Given the description of an element on the screen output the (x, y) to click on. 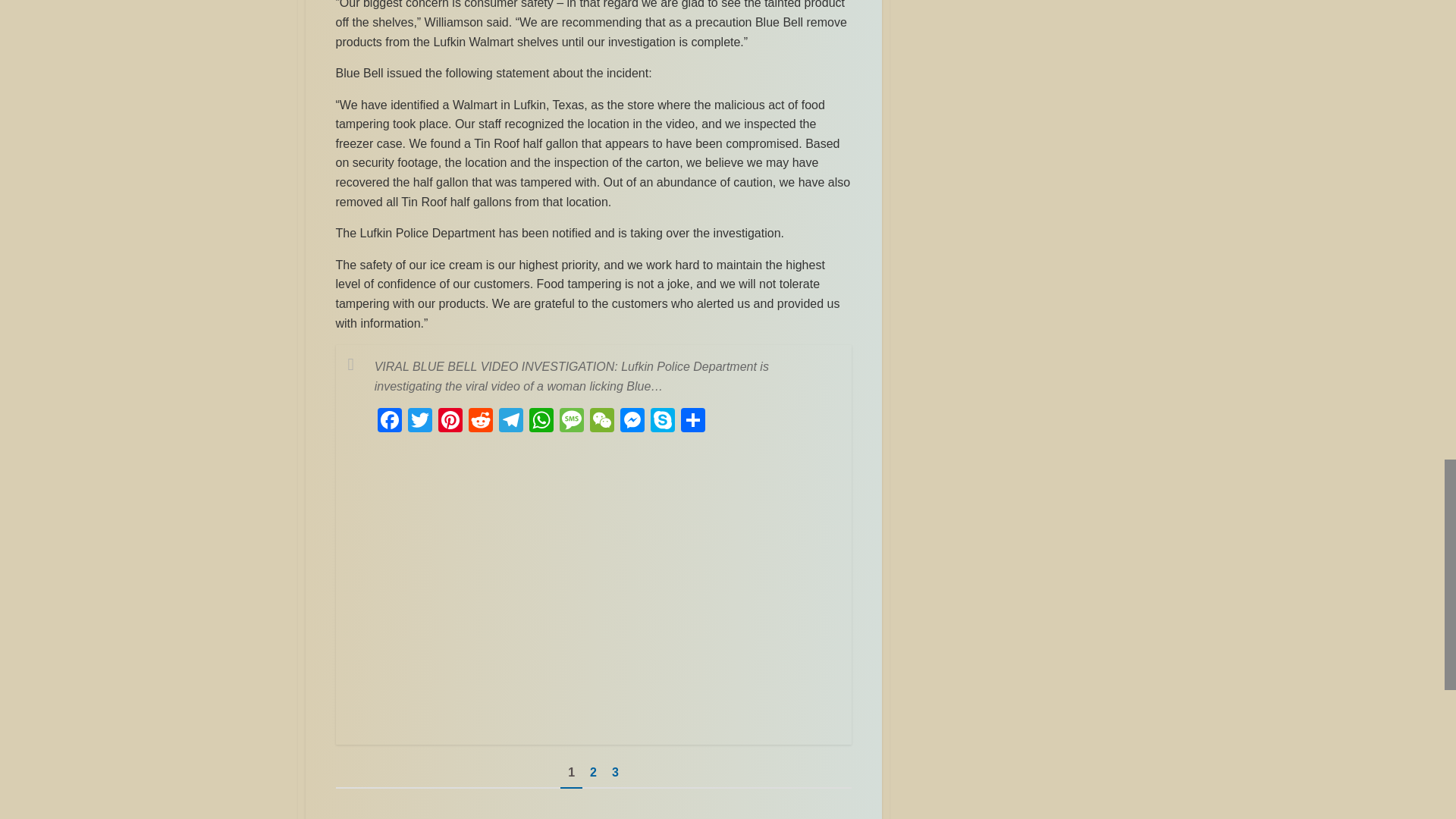
Reddit (480, 421)
Message (571, 421)
Facebook (389, 421)
WhatsApp (540, 421)
Twitter (419, 421)
Messenger (632, 421)
WeChat (601, 421)
Telegram (510, 421)
Skype (662, 421)
Pinterest (450, 421)
